Given the description of an element on the screen output the (x, y) to click on. 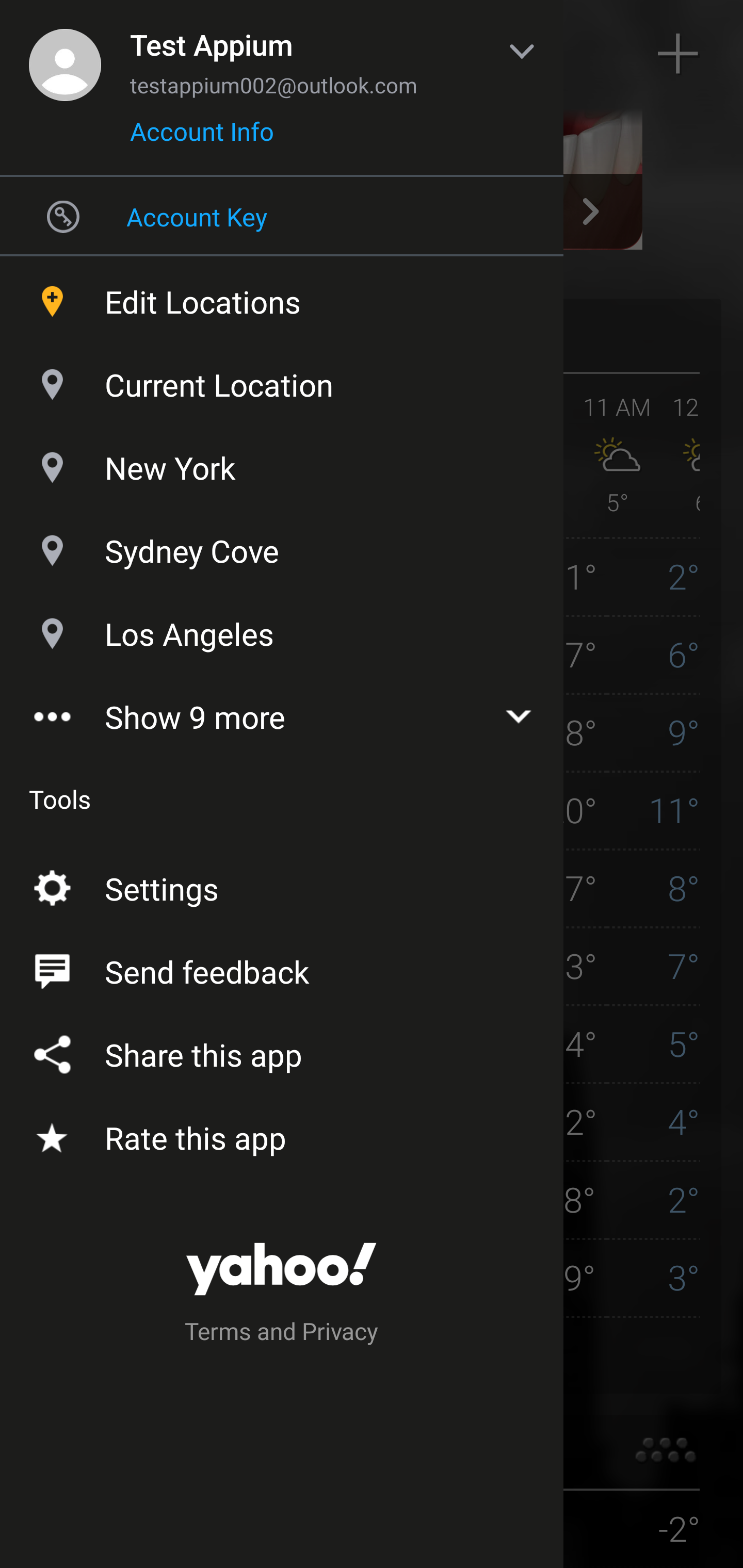
Sidebar (64, 54)
Account Info (202, 137)
Account Key (281, 216)
Edit Locations (281, 296)
Current Location (281, 379)
New York (281, 462)
Sydney Cove (281, 546)
Los Angeles (281, 629)
Settings (281, 884)
Send feedback (281, 967)
Share this app (281, 1050)
Terms and Privacy Terms and privacy button (281, 1334)
